Given the description of an element on the screen output the (x, y) to click on. 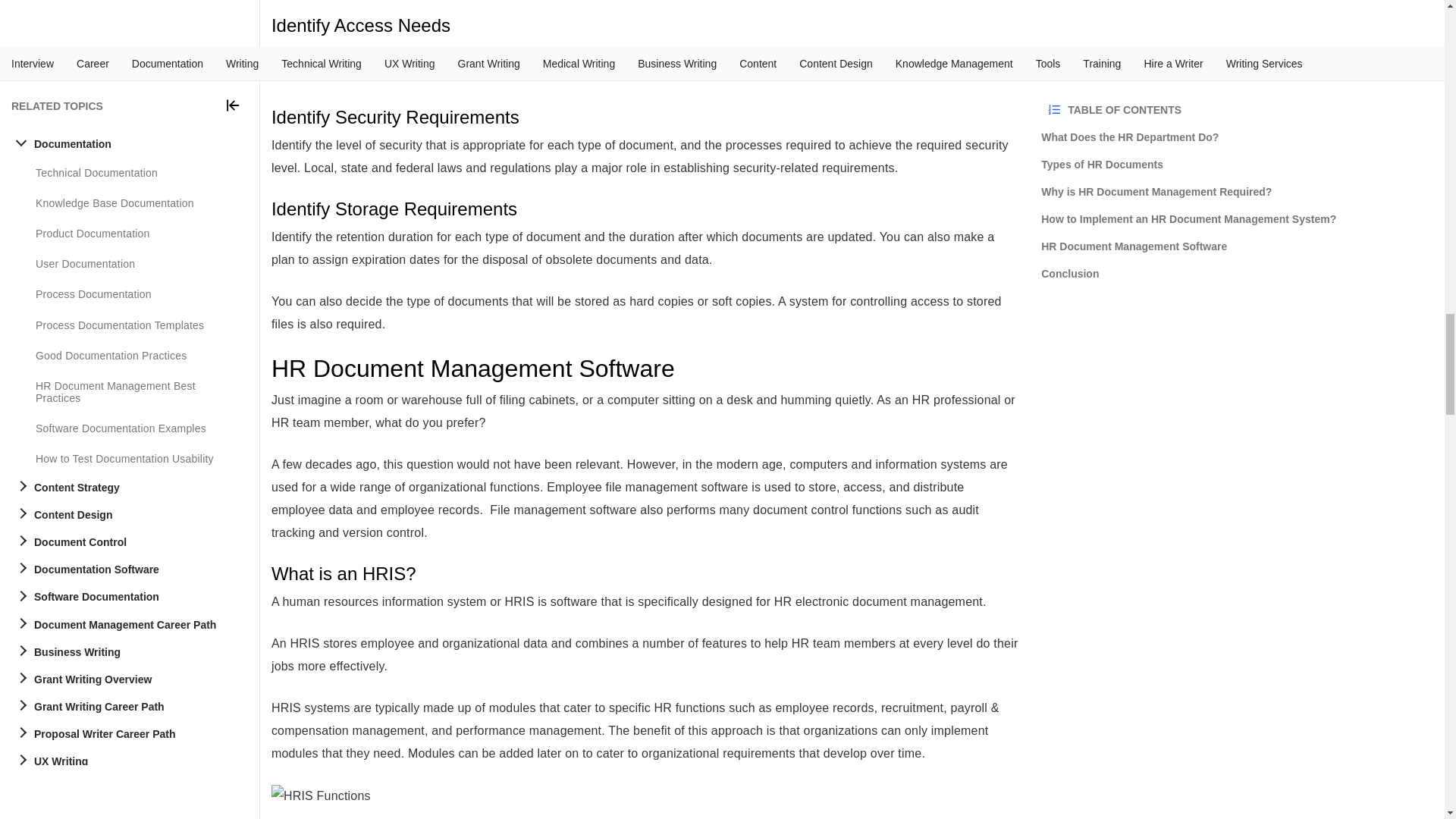
Identify Storage Requirements (643, 209)
HR Document Management Software (643, 368)
What is an HRIS? (643, 573)
Identify Access Needs (643, 25)
Identify Security Requirements (643, 117)
